Given the description of an element on the screen output the (x, y) to click on. 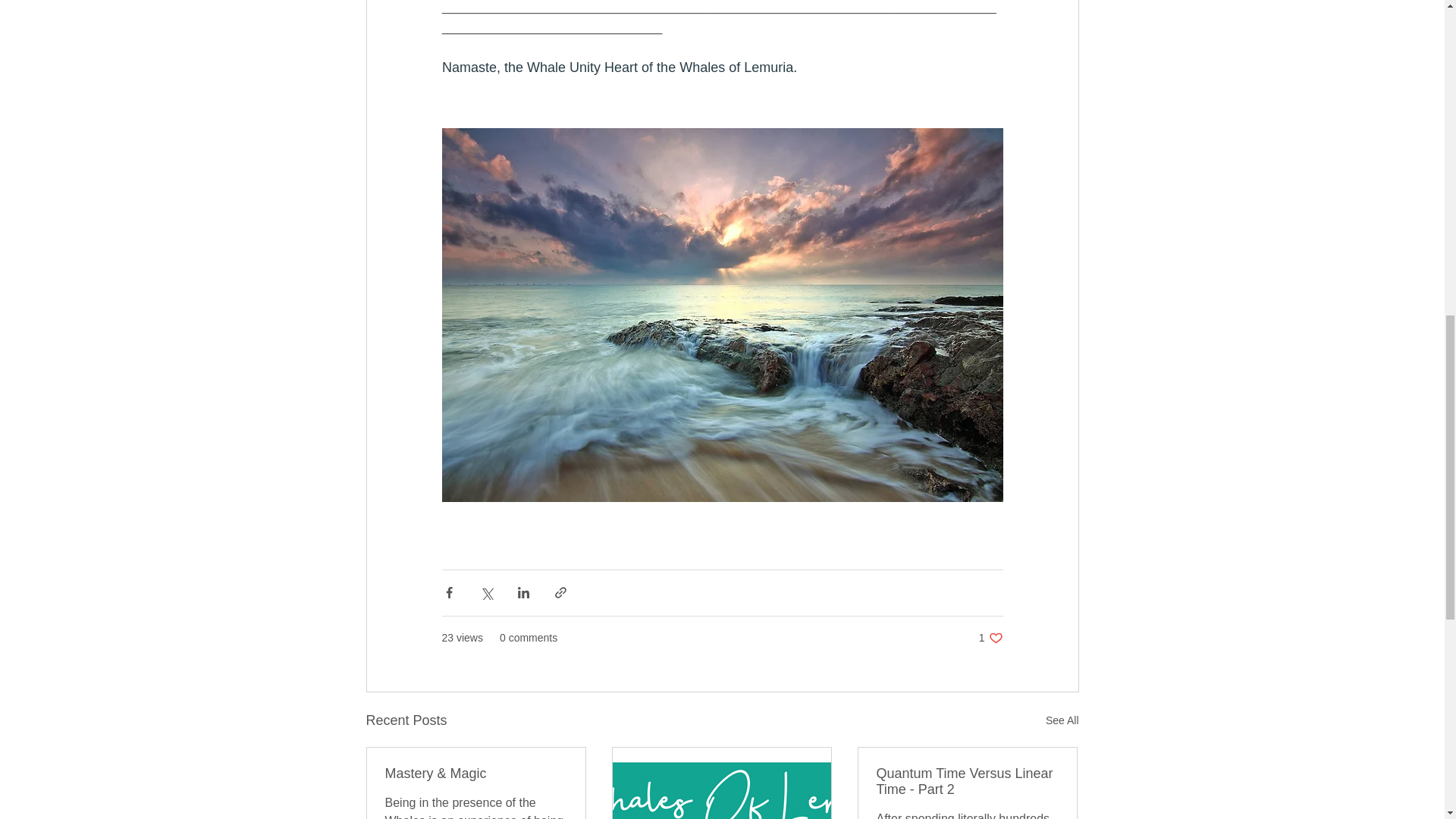
See All (1061, 721)
Quantum Time Versus Linear Time - Part 2 (990, 637)
